Given the description of an element on the screen output the (x, y) to click on. 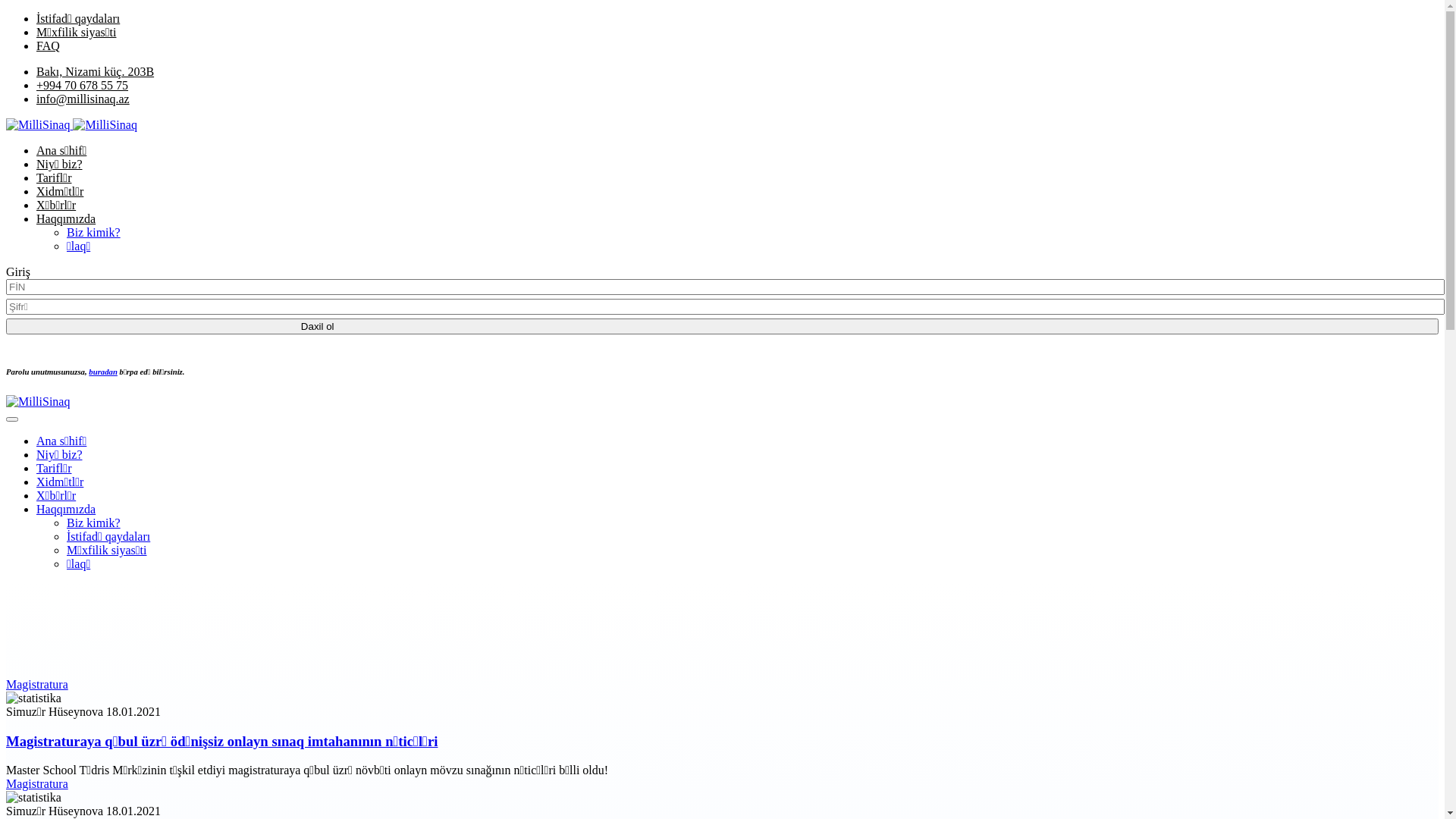
Daxil ol Element type: text (722, 326)
Biz kimik? Element type: text (93, 522)
Biz kimik? Element type: text (93, 231)
Magistratura Element type: text (37, 683)
Magistratura Element type: text (37, 783)
FAQ Element type: text (47, 45)
info@millisinaq.az Element type: text (82, 98)
+994 70 678 55 75 Element type: text (82, 84)
buradan Element type: text (102, 371)
